Given the description of an element on the screen output the (x, y) to click on. 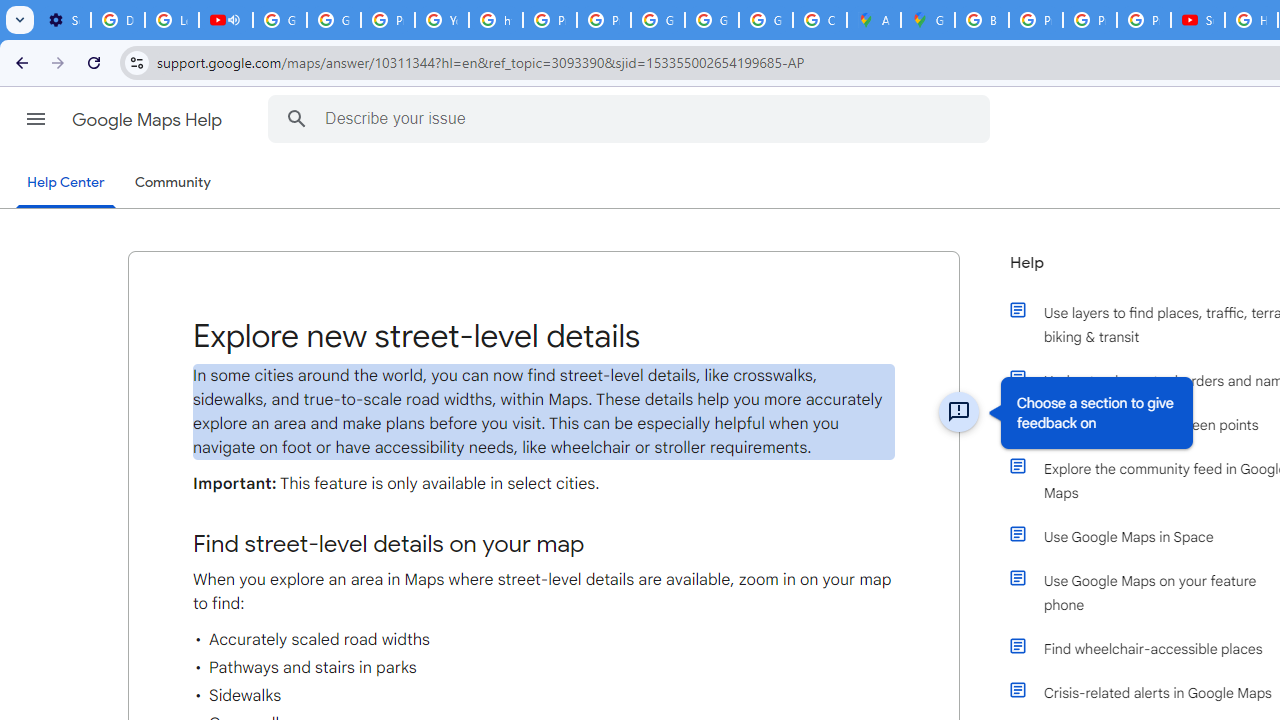
Sidewalks (543, 695)
Important: This feature is only available in select cities. (543, 484)
Google Maps Help (148, 119)
Community (171, 183)
Blogger Policies and Guidelines - Transparency Center (981, 20)
Subscriptions - YouTube (1197, 20)
YouTube (441, 20)
Delete photos & videos - Computer - Google Photos Help (117, 20)
Privacy Help Center - Policies Help (1089, 20)
